Given the description of an element on the screen output the (x, y) to click on. 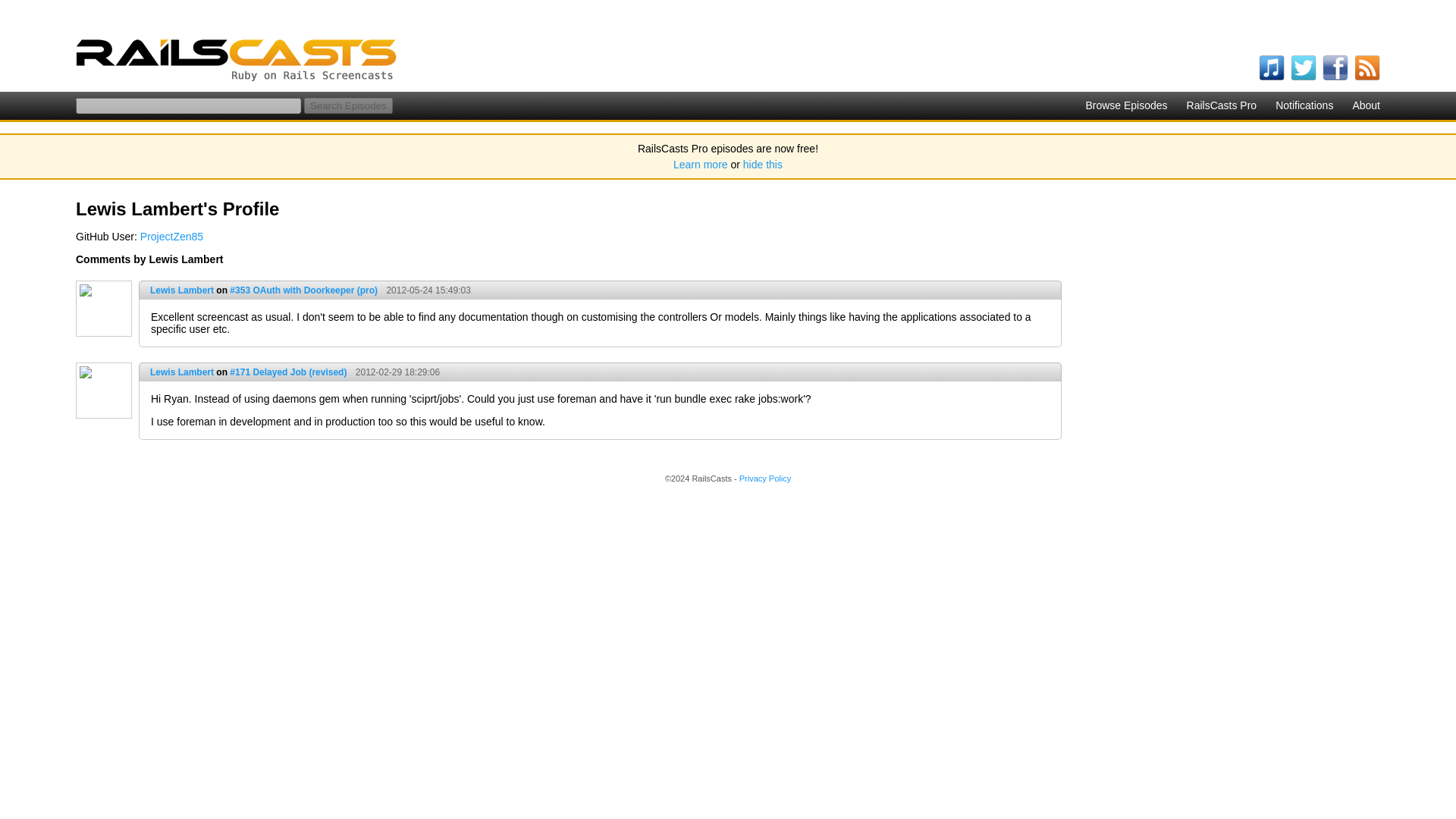
Notifications (1304, 105)
2012-05-24 15:49:03 (425, 290)
Learn more (700, 164)
Browse Episodes (1125, 105)
Lewis Lambert (181, 290)
Search Episodes (348, 105)
About (1366, 105)
Search Episodes (348, 105)
2012-02-29 18:29:06 (394, 371)
Privacy Policy (764, 478)
